Given the description of an element on the screen output the (x, y) to click on. 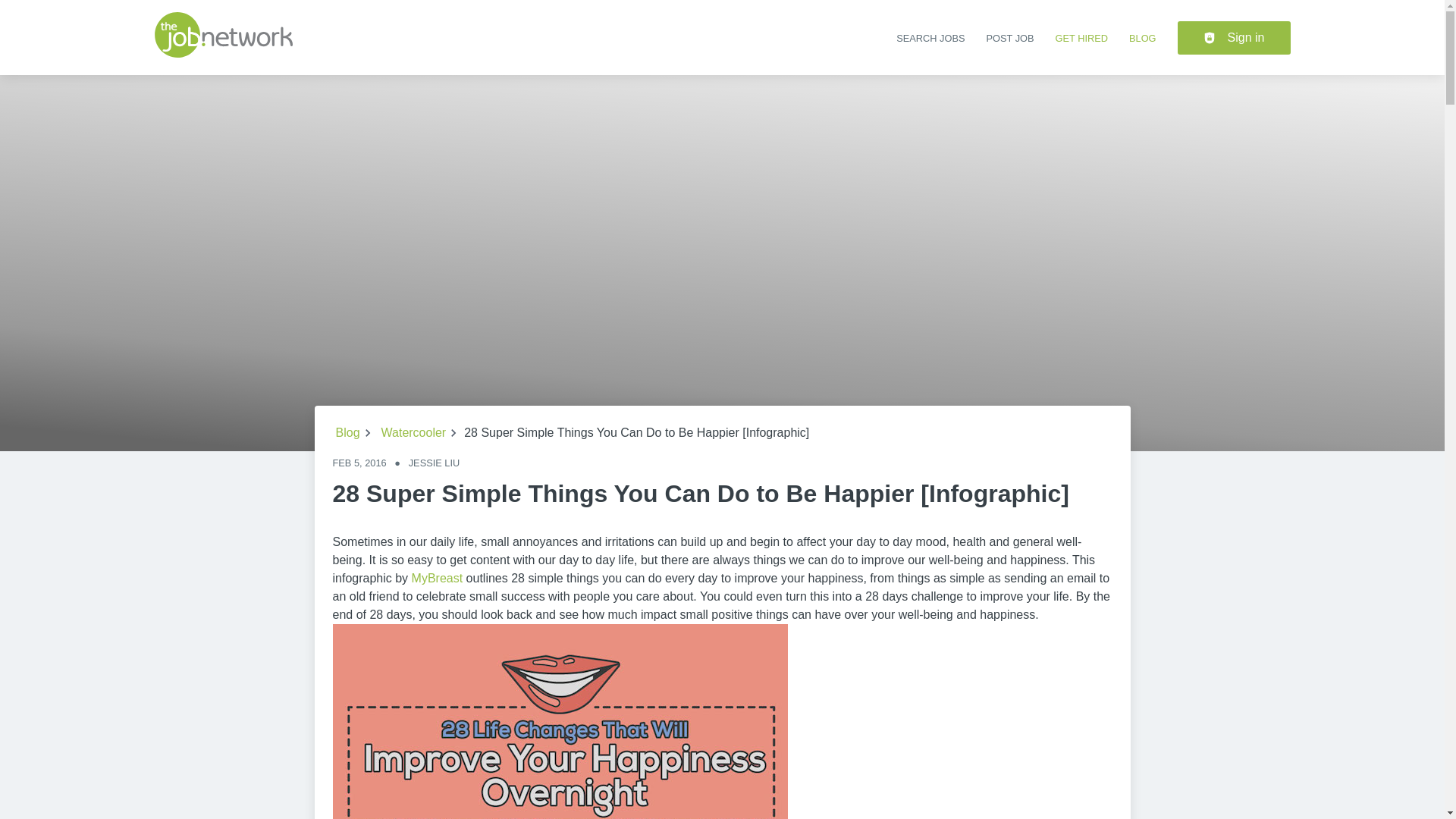
BLOG (1142, 37)
GET HIRED (1081, 37)
SEARCH JOBS (929, 37)
Watercooler (413, 433)
MyBreast (437, 577)
Sign in (1233, 37)
POST JOB (1009, 37)
Blog (346, 433)
